Given the description of an element on the screen output the (x, y) to click on. 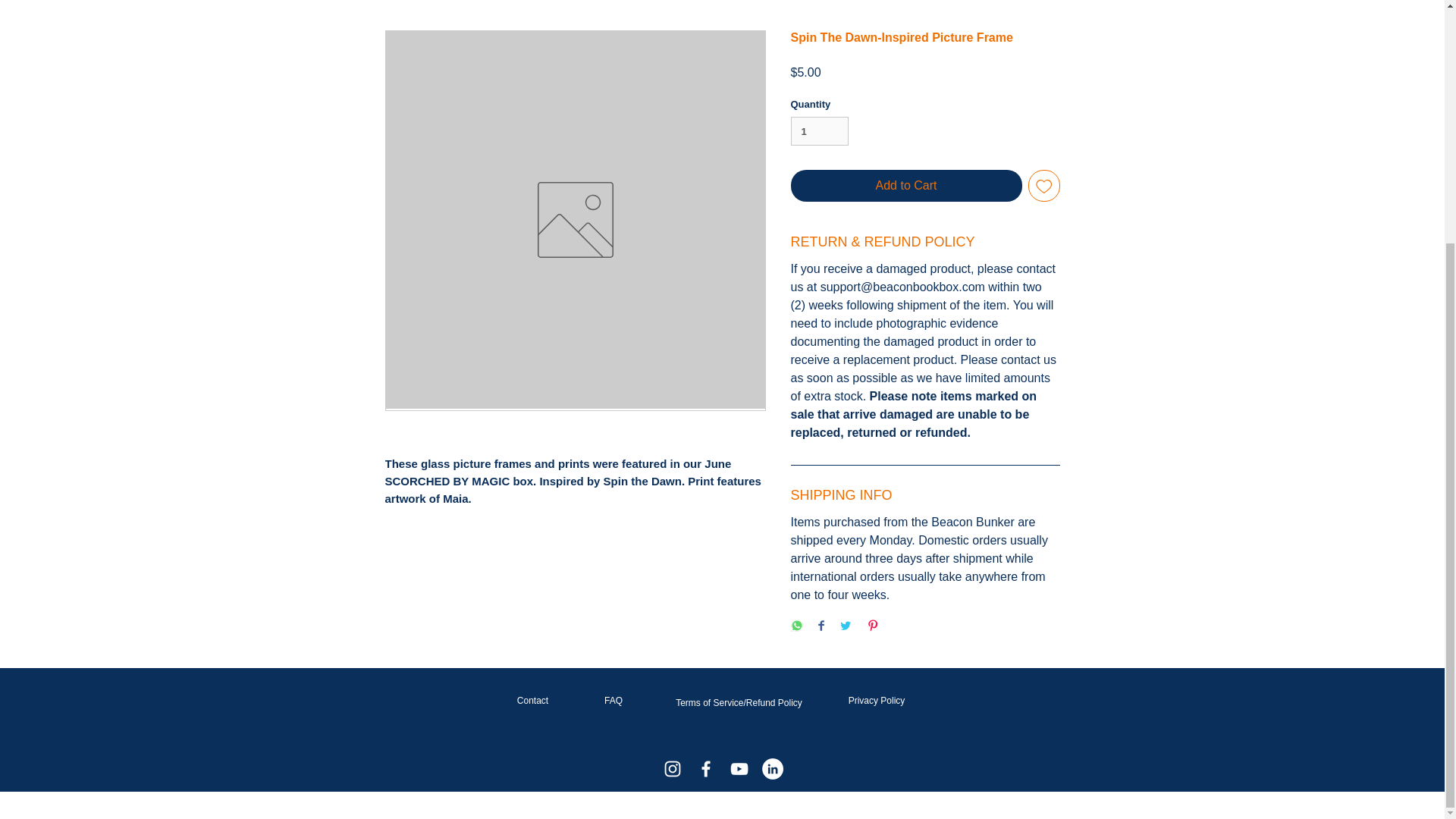
Contact (532, 700)
1 (818, 131)
Add to Cart (906, 185)
FAQ (613, 700)
Privacy Policy (876, 700)
